Given the description of an element on the screen output the (x, y) to click on. 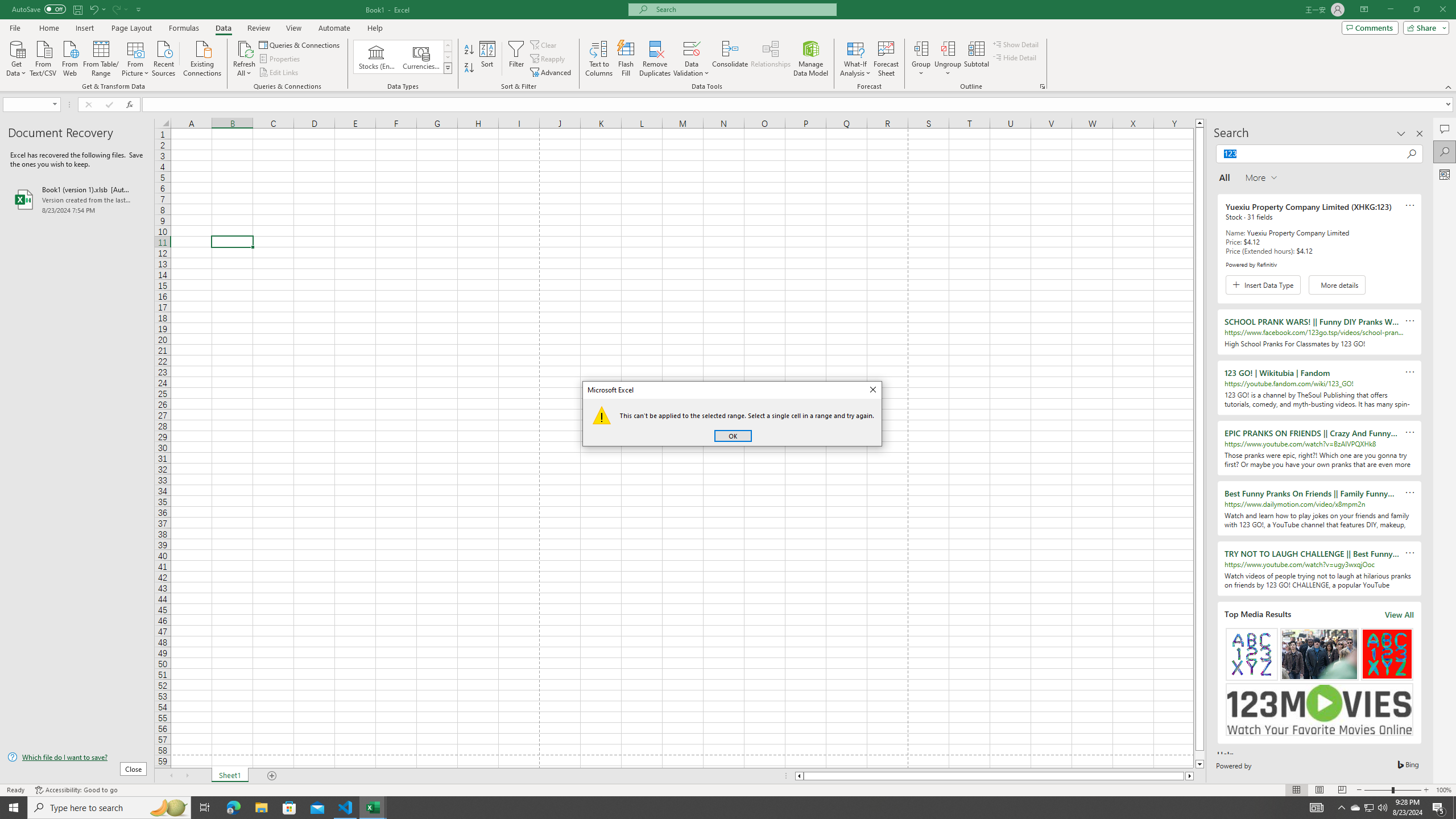
Column left (798, 775)
Hide Detail (1014, 56)
Ribbon Display Options (1364, 9)
Page Break Preview (1342, 790)
Refresh All (244, 58)
Task Pane Options (1400, 133)
Name Box (30, 104)
Type here to search (108, 807)
Page Layout (1318, 790)
Zoom (1392, 790)
Home (1368, 807)
Consolidate... (48, 28)
Data Validation... (729, 58)
Column right (691, 58)
